Given the description of an element on the screen output the (x, y) to click on. 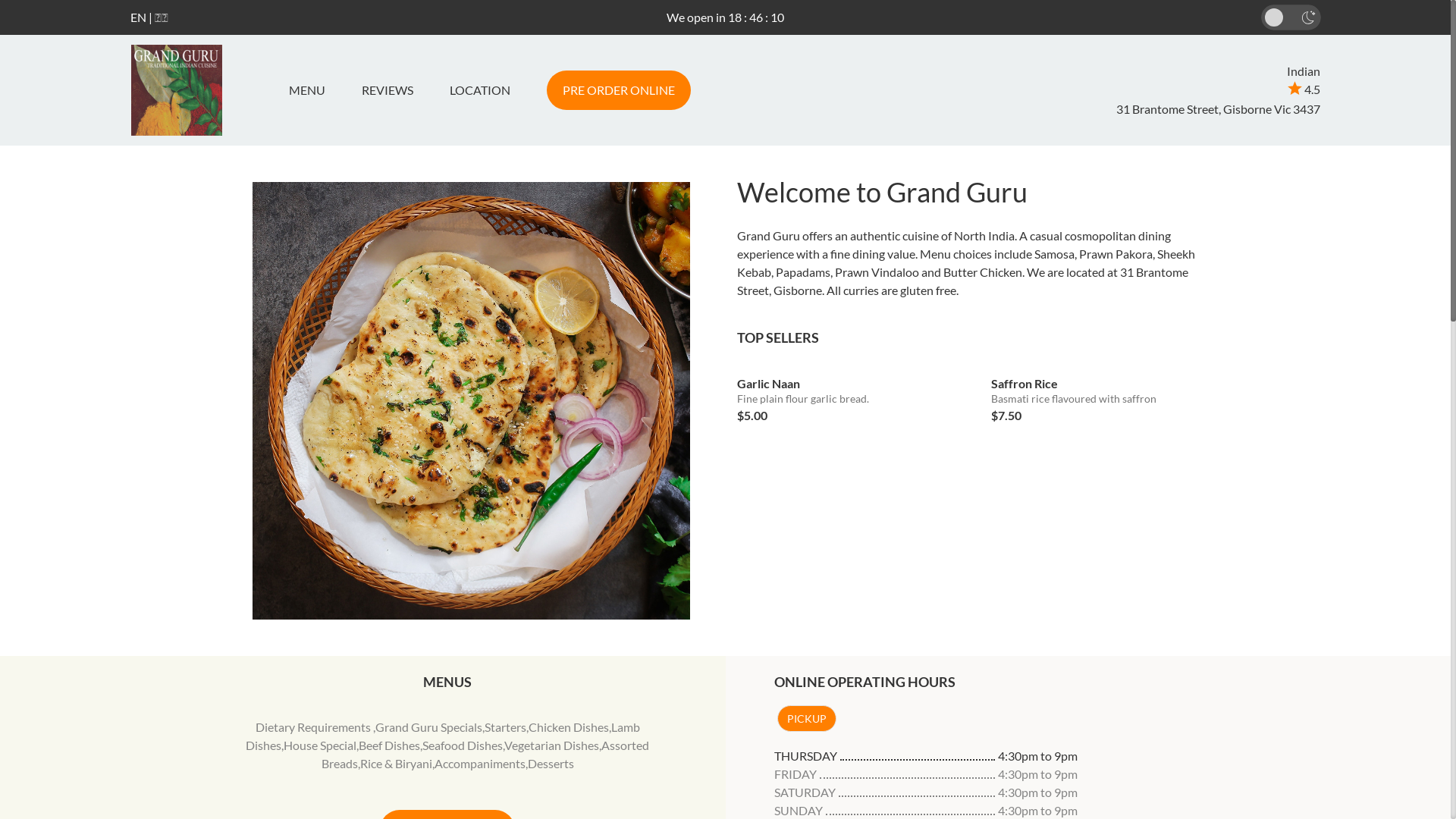
Dietary Requirements Element type: text (314, 726)
MENU Element type: text (312, 90)
Desserts Element type: text (550, 763)
Chicken Dishes Element type: text (568, 726)
Grand Guru Specials Element type: text (428, 726)
Lamb Dishes Element type: text (442, 735)
PICKUP Element type: text (805, 718)
Beef Dishes Element type: text (389, 744)
Accompaniments Element type: text (479, 763)
Saffron Rice
Basmati rice flavoured with saffron
$7.50 Element type: text (1107, 394)
Rice & Biryani Element type: text (396, 763)
4.5 Element type: text (1303, 88)
Starters Element type: text (505, 726)
REVIEWS Element type: text (386, 90)
Vegetarian Dishes Element type: text (551, 744)
PRE ORDER ONLINE Element type: text (618, 89)
EN Element type: text (138, 16)
Garlic Naan
Fine plain flour garlic bread.
$5.00 Element type: text (853, 394)
LOCATION Element type: text (478, 90)
House Special Element type: text (319, 744)
Seafood Dishes Element type: text (462, 744)
Assorted Breads Element type: text (485, 753)
